Given the description of an element on the screen output the (x, y) to click on. 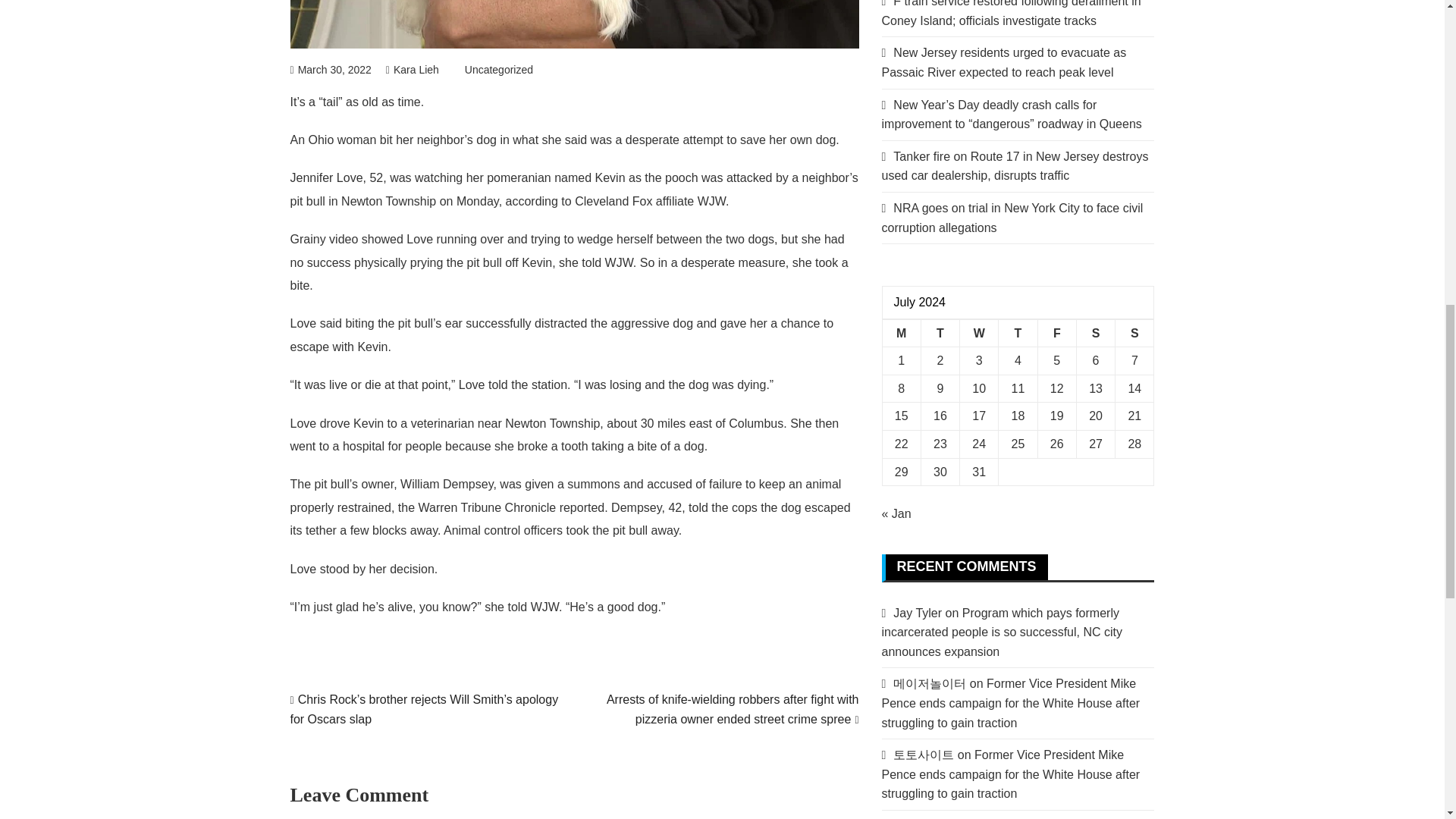
Friday (1055, 333)
Kara Lieh (412, 69)
Tuesday (939, 333)
Monday (901, 333)
Jay Tyler (917, 612)
reported (582, 507)
Sunday (1134, 333)
March 30, 2022 (330, 69)
Cleveland Fox affiliate WJW (650, 201)
